Given the description of an element on the screen output the (x, y) to click on. 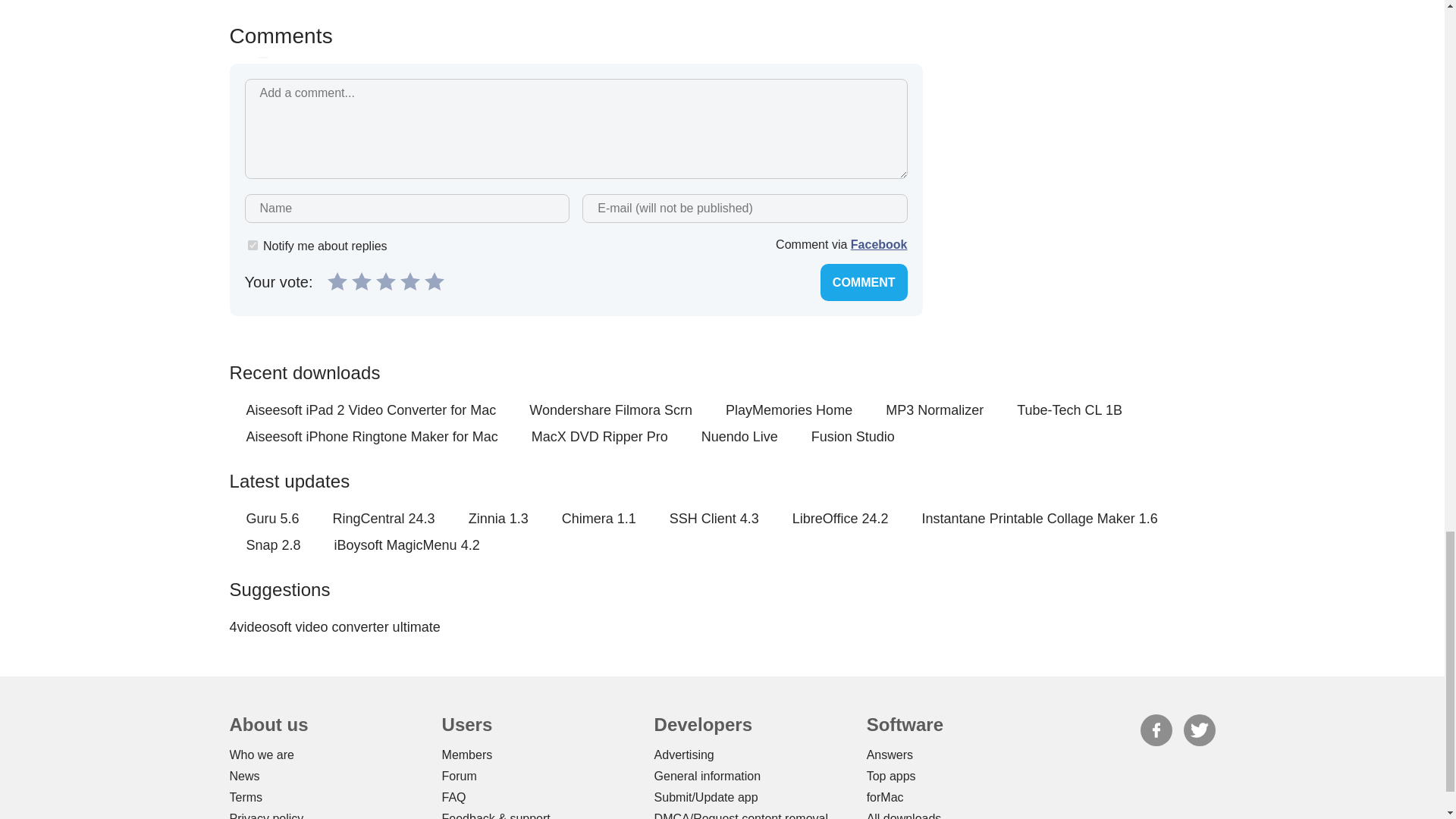
5 (434, 280)
3 (385, 280)
4 (409, 280)
1 (336, 280)
Comment (864, 282)
2 (361, 280)
1 (252, 245)
